Given the description of an element on the screen output the (x, y) to click on. 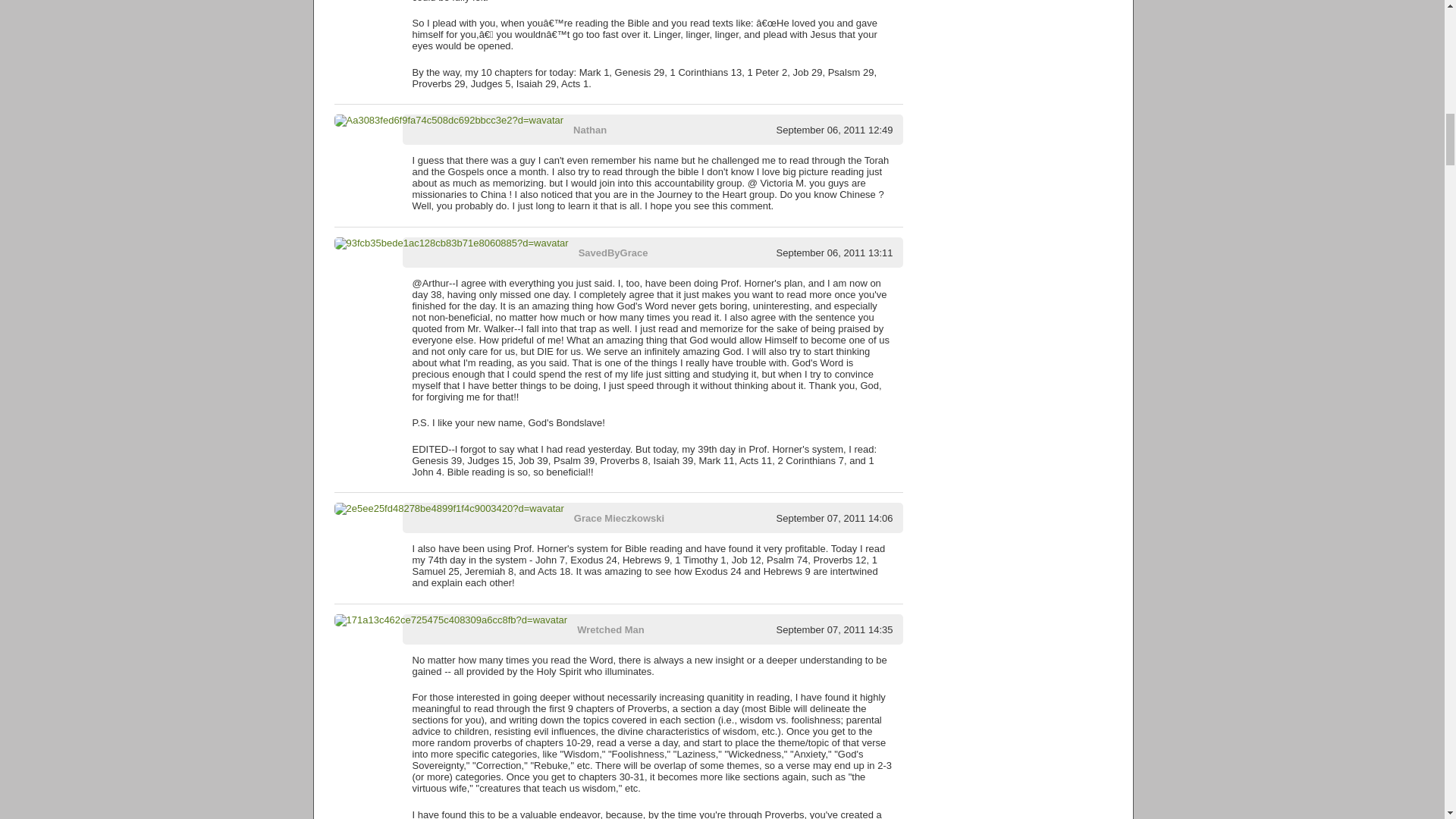
Grace Mieczkowski (619, 517)
Wretched Man (610, 629)
SavedByGrace (613, 252)
Nathan (589, 129)
